Given the description of an element on the screen output the (x, y) to click on. 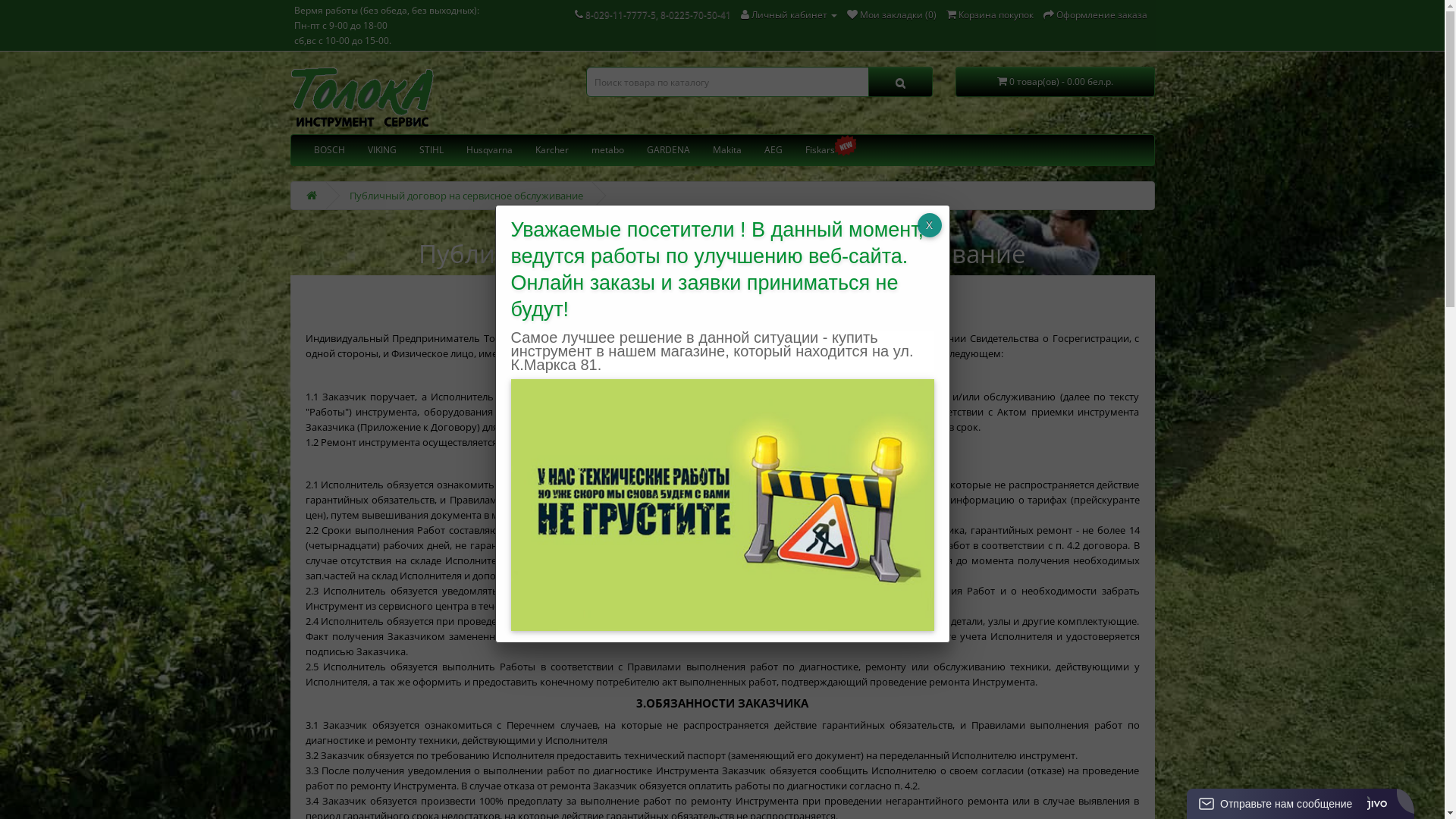
AEG Element type: text (772, 149)
Husqvarna Element type: text (489, 149)
VIKING Element type: text (381, 149)
BOSCH Element type: text (328, 149)
Karcher Element type: text (551, 149)
Fiskars Element type: text (819, 149)
Makita Element type: text (726, 149)
STIHL Element type: text (431, 149)
GARDENA Element type: text (668, 149)
metabo Element type: text (606, 149)
